Given the description of an element on the screen output the (x, y) to click on. 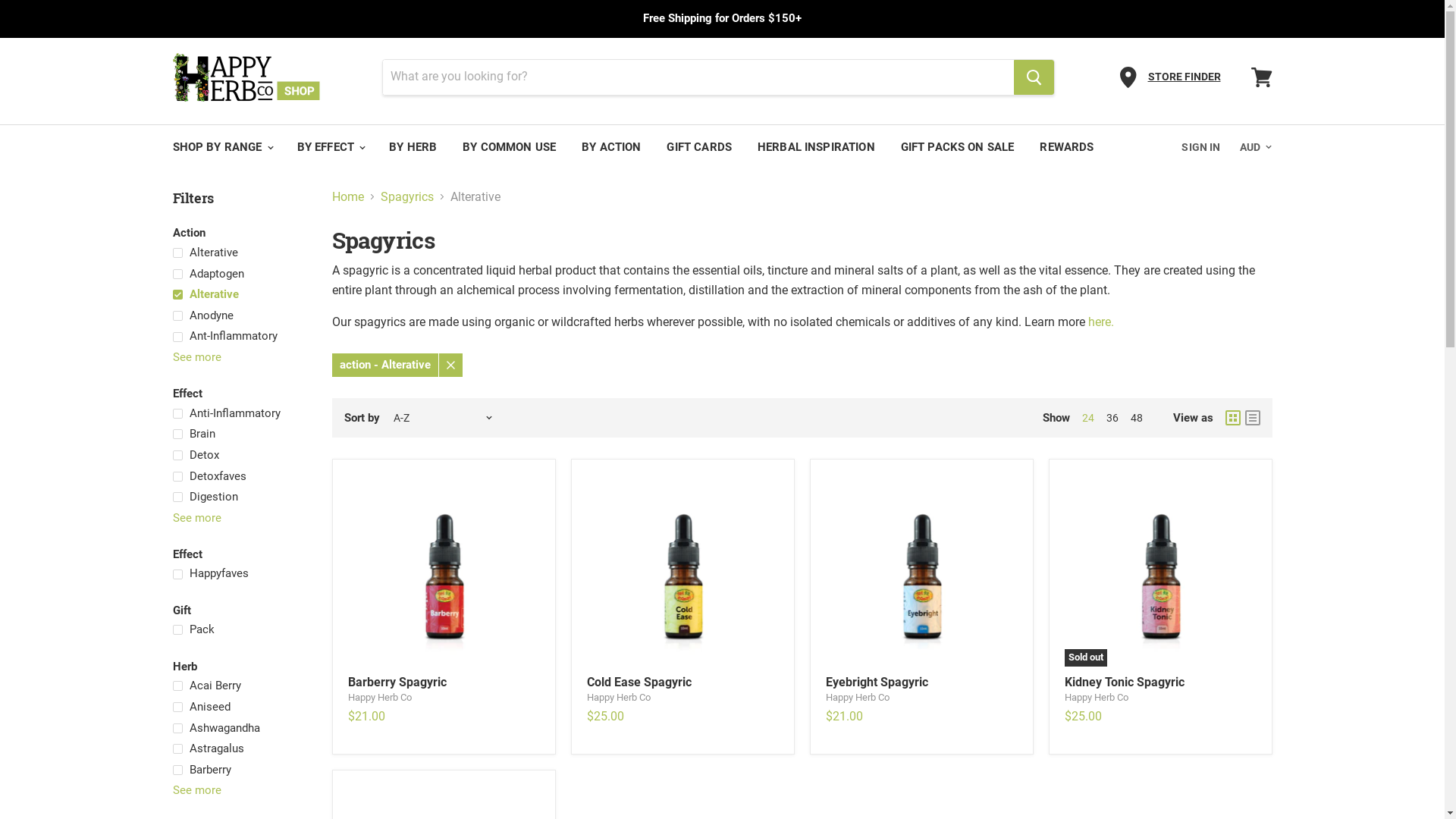
Cold Ease Spagyric Element type: text (638, 681)
HERBAL INSPIRATION Element type: text (816, 146)
Digestion Element type: text (240, 497)
See more Element type: text (240, 518)
Astragalus Element type: text (240, 749)
SHOP BY RANGE Element type: text (221, 146)
BY HERB Element type: text (412, 146)
BY EFFECT Element type: text (330, 146)
Pack Element type: text (240, 630)
Brain Element type: text (240, 434)
Ant-Inflammatory Element type: text (240, 336)
Detoxfaves Element type: text (240, 476)
Alterative Element type: text (240, 252)
Alterative Element type: text (240, 294)
Eyebright Spagyric Element type: text (876, 681)
Detox Element type: text (240, 455)
Acai Berry Element type: text (240, 686)
here. Element type: text (1098, 321)
Anodyne Element type: text (240, 315)
GIFT CARDS Element type: text (699, 146)
Spagyrics Element type: text (406, 196)
STORE FINDER Element type: text (1184, 76)
48 Element type: text (1135, 417)
BY COMMON USE Element type: text (509, 146)
Anti-Inflammatory Element type: text (240, 413)
action - Alterative
Remove filter Element type: text (397, 364)
Happyfaves Element type: text (240, 573)
Ashwagandha Element type: text (240, 727)
BY ACTION Element type: text (611, 146)
Kidney Tonic Spagyric Element type: text (1124, 681)
Adaptogen Element type: text (240, 273)
Barberry Spagyric Element type: text (396, 681)
36 Element type: text (1111, 417)
View cart Element type: text (1261, 76)
GIFT PACKS ON SALE Element type: text (957, 146)
Sold out Element type: text (1160, 570)
See more Element type: text (240, 357)
Home Element type: text (348, 196)
See more Element type: text (240, 790)
24 Element type: text (1087, 417)
SIGN IN Element type: text (1200, 146)
REWARDS Element type: text (1066, 146)
Aniseed Element type: text (240, 706)
Barberry Element type: text (240, 769)
